Given the description of an element on the screen output the (x, y) to click on. 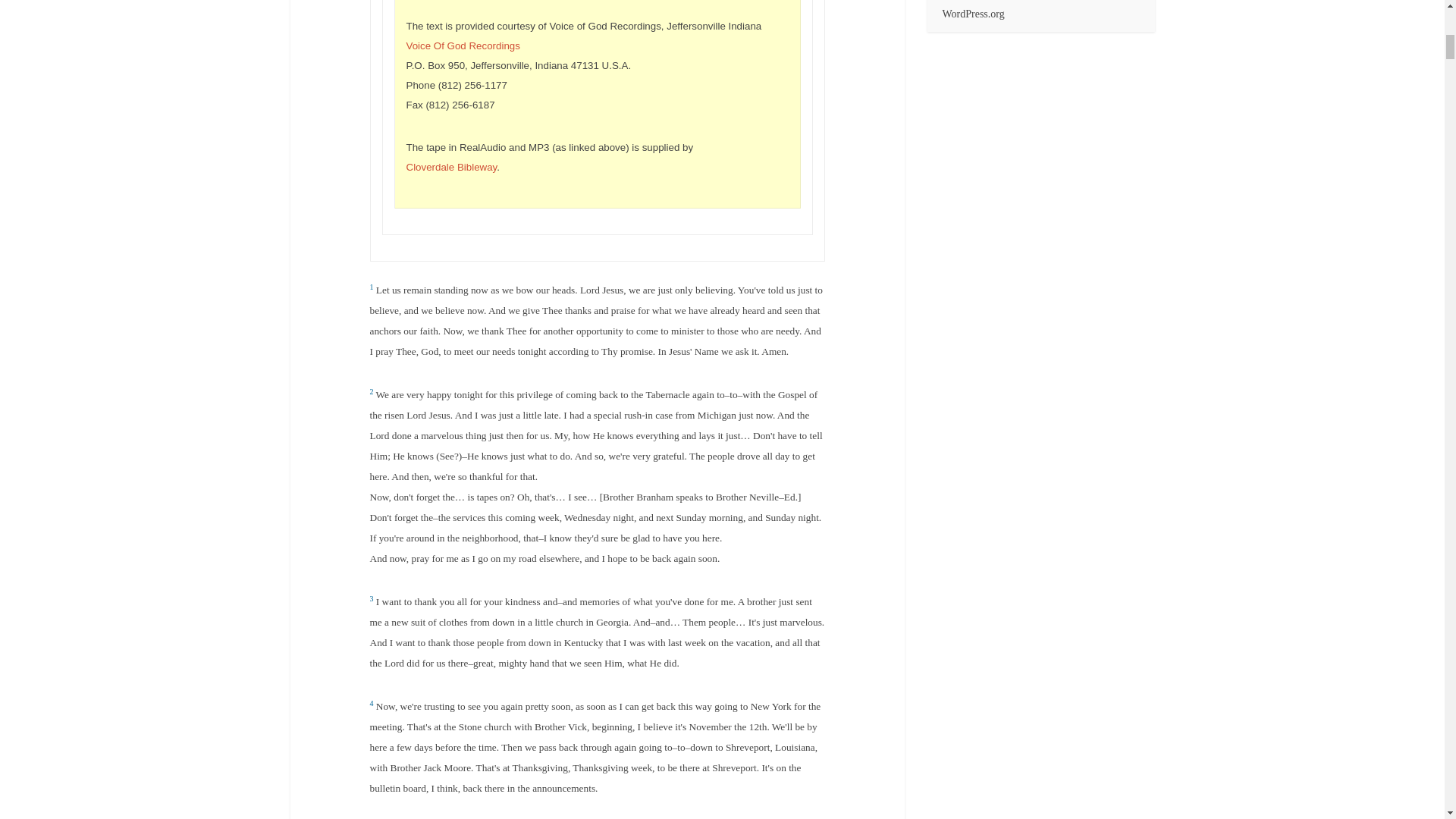
Voice Of God Recordings (462, 45)
Cloverdale Bibleway (451, 166)
All the tapes in RealAudio and MP3 (451, 166)
VOGR (462, 45)
